Given the description of an element on the screen output the (x, y) to click on. 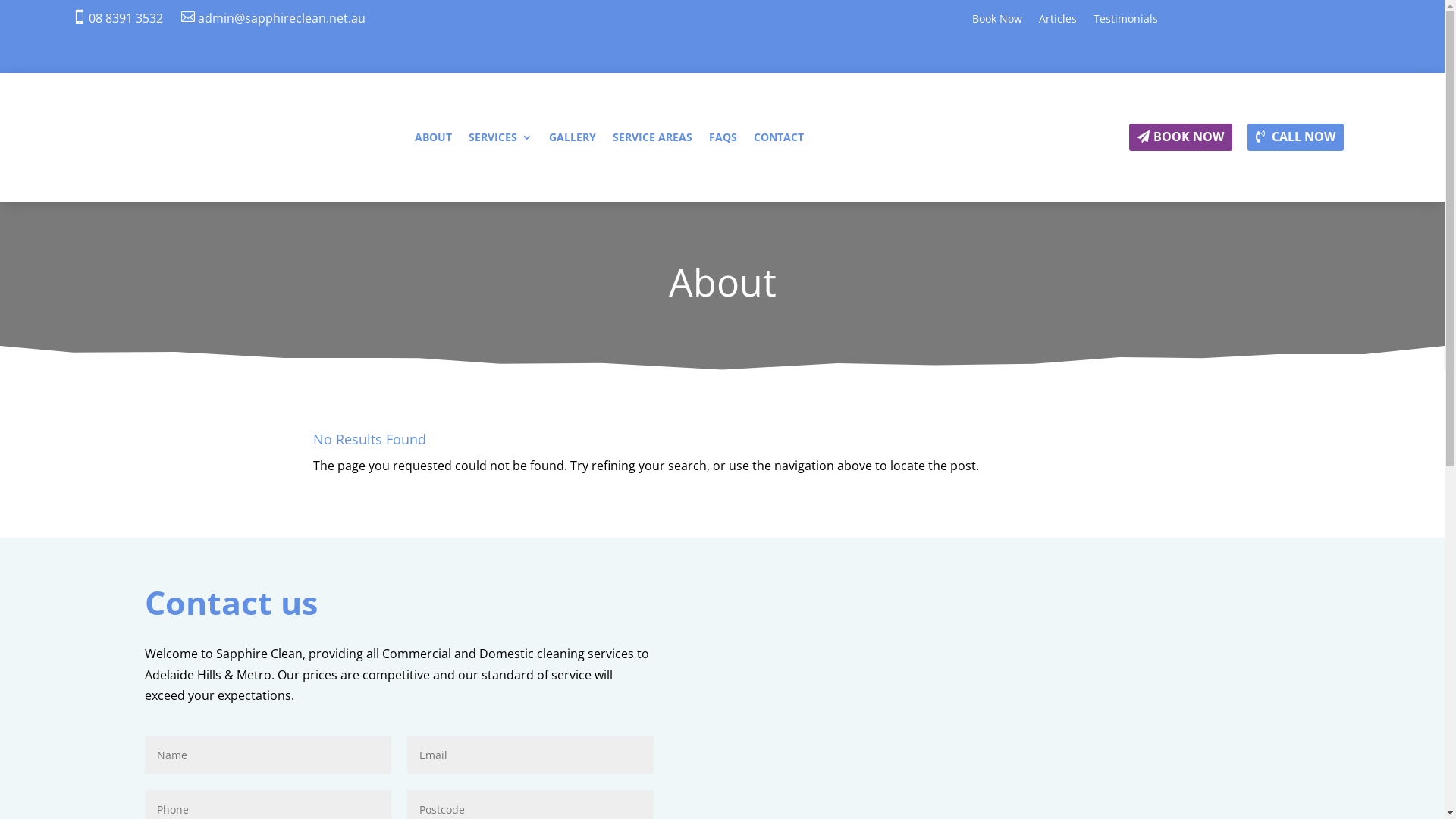
admin@sapphireclean.net.au Element type: text (281, 17)
08 8391 3532 Element type: text (125, 17)
SERVICES Element type: text (500, 139)
Book Now Element type: text (997, 21)
SERVICE AREAS Element type: text (652, 139)
ABOUT Element type: text (432, 139)
CONTACT Element type: text (778, 139)
CALL NOW Element type: text (1295, 137)
Testimonials Element type: text (1125, 21)
BOOK NOW Element type: text (1180, 137)
GALLERY Element type: text (572, 139)
FAQS Element type: text (723, 139)
Articles Element type: text (1057, 21)
